Given the description of an element on the screen output the (x, y) to click on. 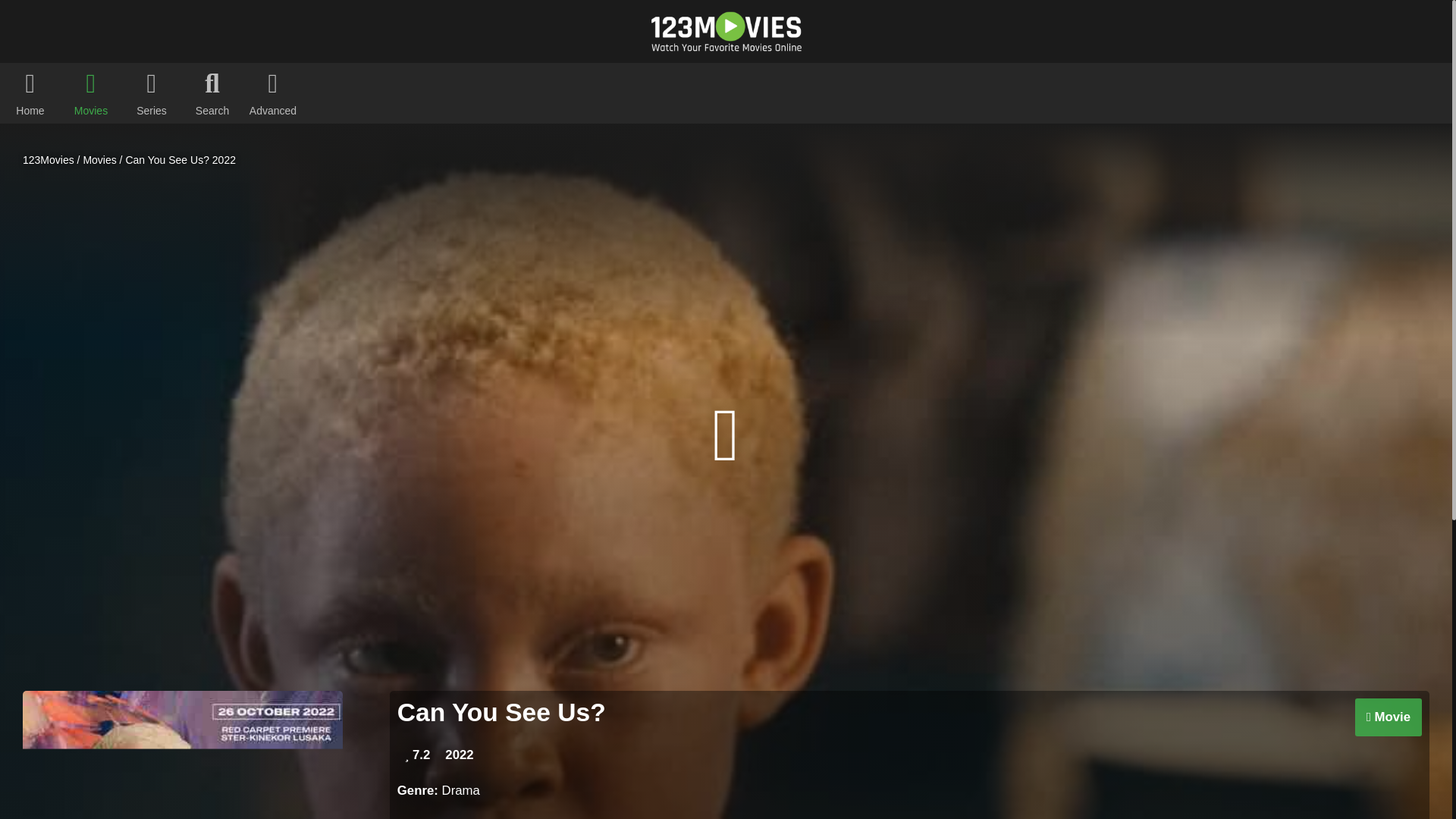
123Movies (48, 159)
Release date (459, 754)
Can You See Us? 2022 (180, 159)
Rating (417, 754)
Can You See Us? 2022 (180, 159)
123Movies (48, 159)
Movies (99, 159)
Movies (99, 159)
